Given the description of an element on the screen output the (x, y) to click on. 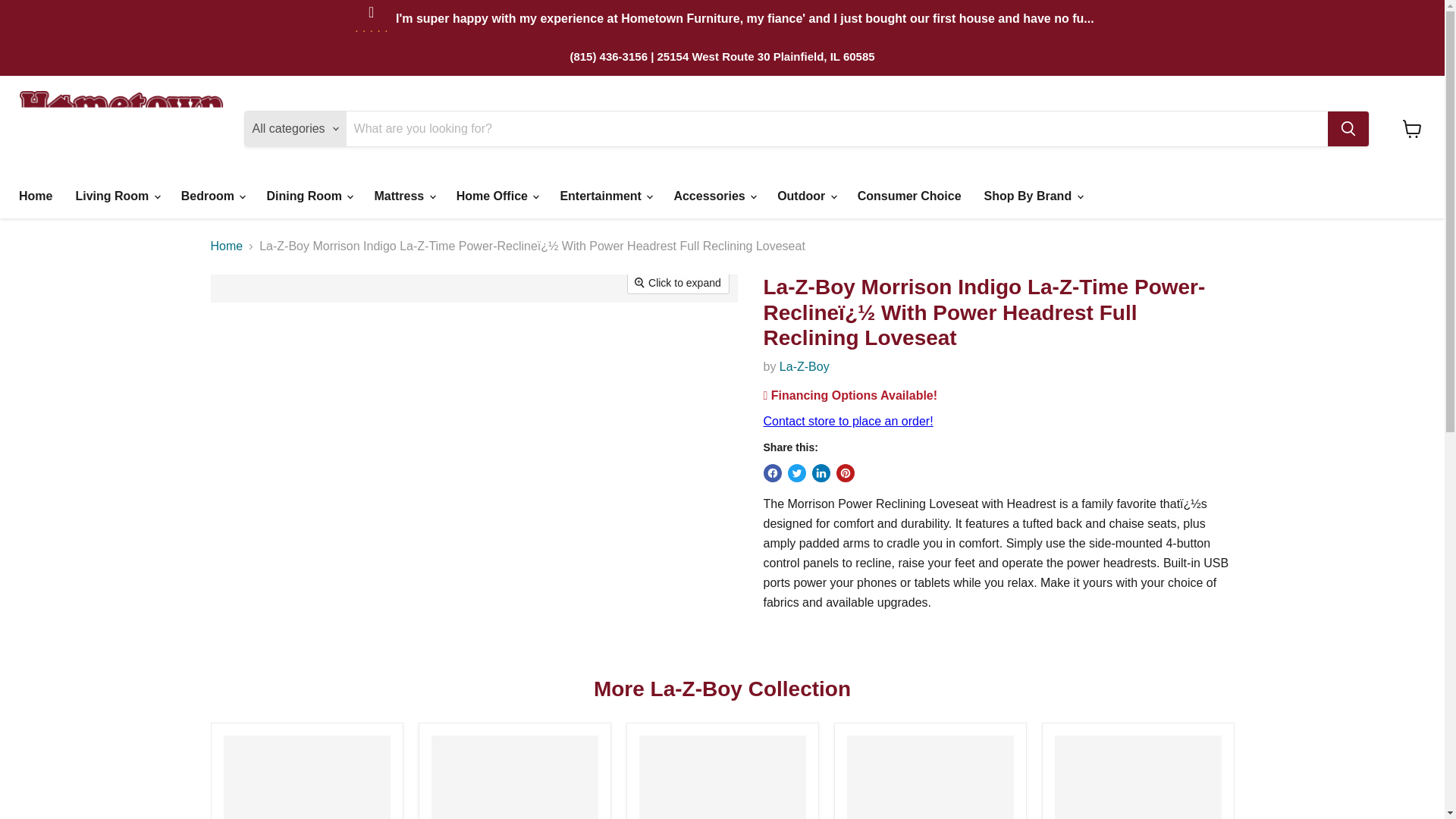
La-Z-Boy (803, 366)
Home (35, 196)
View cart (1411, 128)
